Given the description of an element on the screen output the (x, y) to click on. 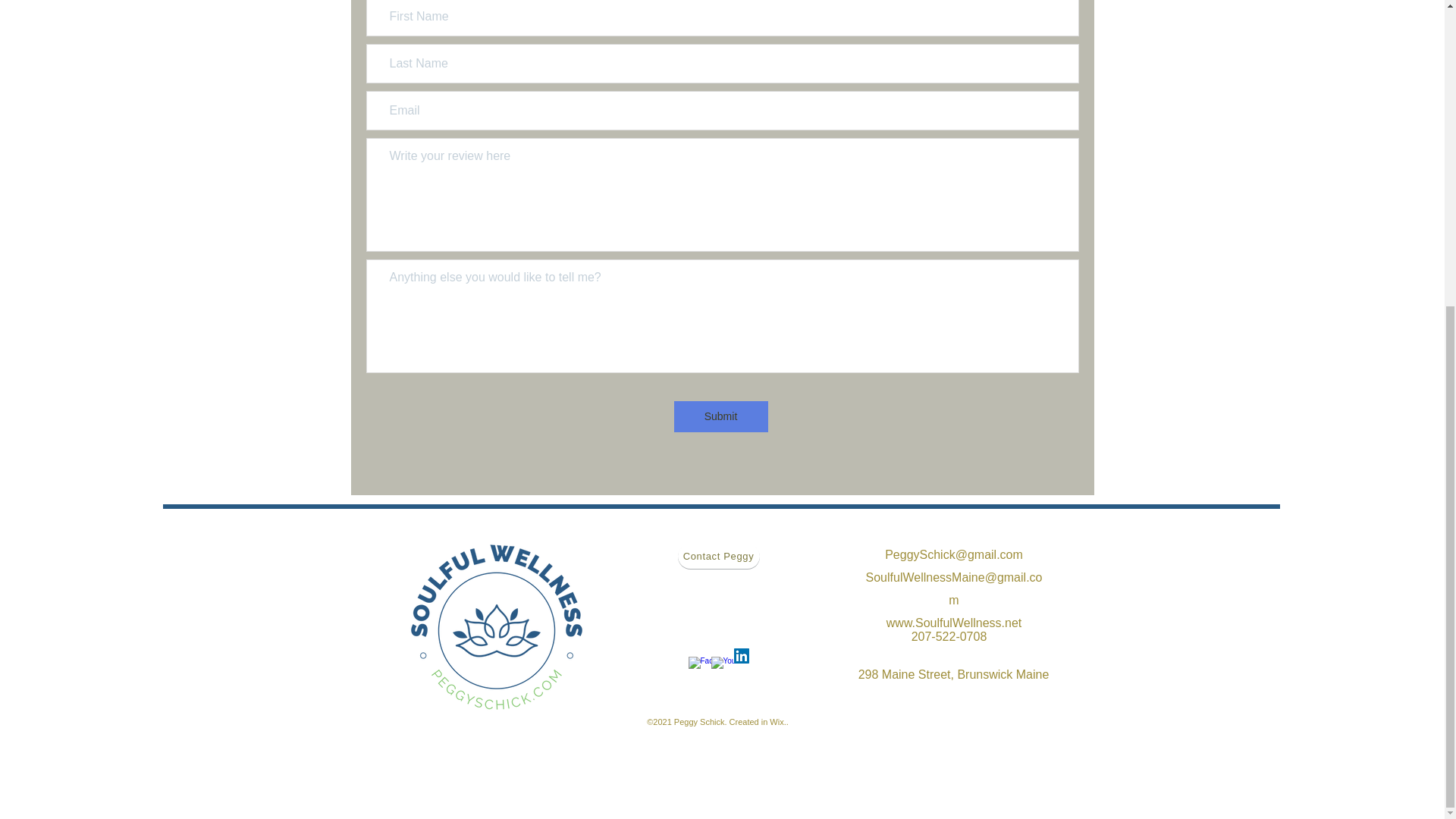
Submit (719, 416)
www.SoulfulWellness.net (954, 622)
Contact Peggy (719, 555)
